Given the description of an element on the screen output the (x, y) to click on. 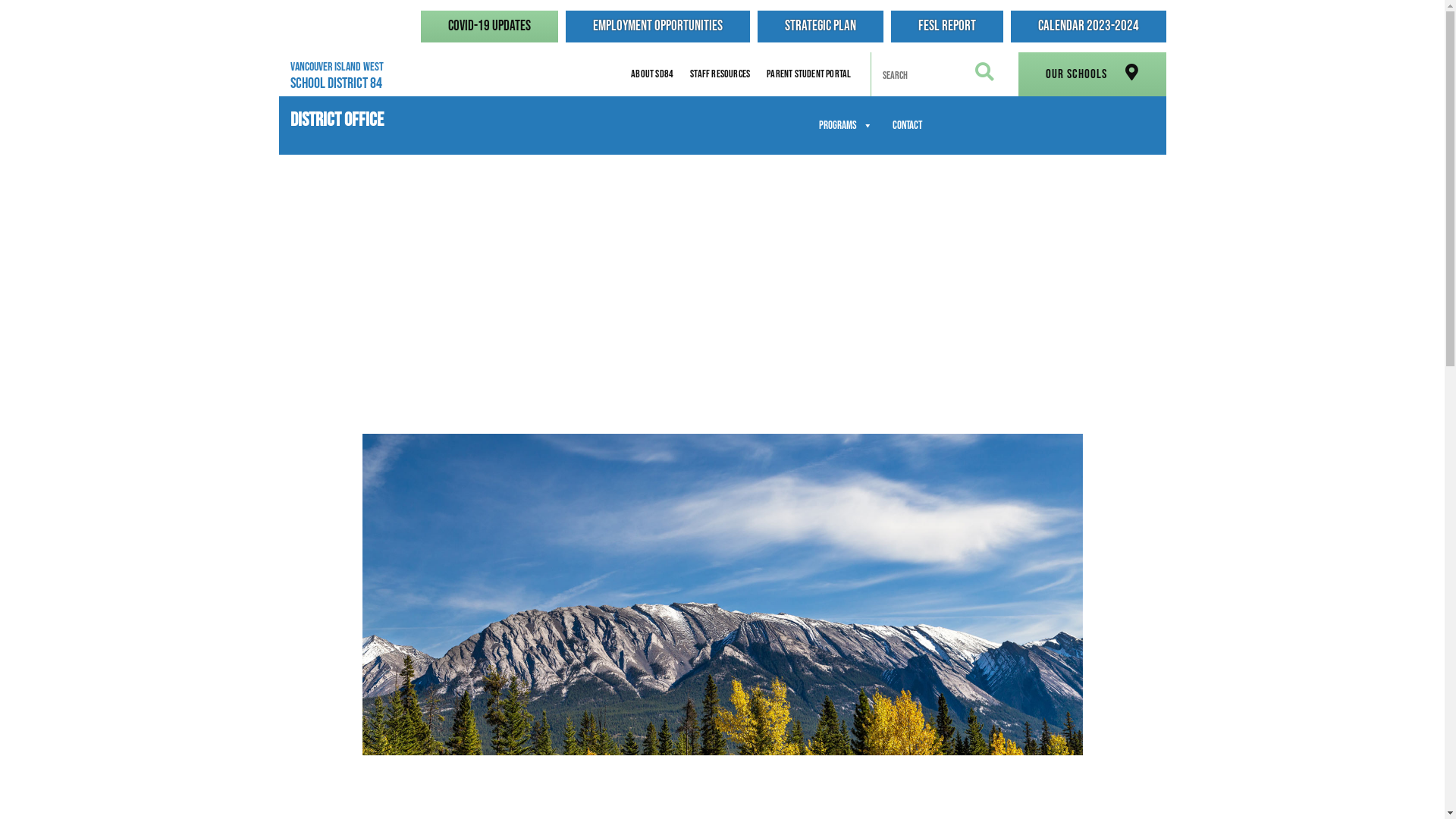
SEARCH Element type: text (984, 76)
CALENDAR 2023-2024 Element type: text (1087, 26)
District Office Element type: text (335, 114)
CONTACT Element type: text (906, 125)
Skip to content Element type: text (0, 0)
Staff Resources Element type: text (719, 74)
FESL REPORT Element type: text (946, 26)
COVID-19 UPDATES Element type: text (488, 26)
STRATEGIC PLAN Element type: text (819, 26)
About SD84 Element type: text (651, 74)
EMPLOYMENT OPPORTUNITIES Element type: text (657, 26)
PROGRAMS Element type: text (844, 125)
Parent Student Portal Element type: text (808, 74)
OUR SCHOOLS Element type: text (1091, 74)
Vancouver Island West
School District 84 Element type: text (351, 75)
